Given the description of an element on the screen output the (x, y) to click on. 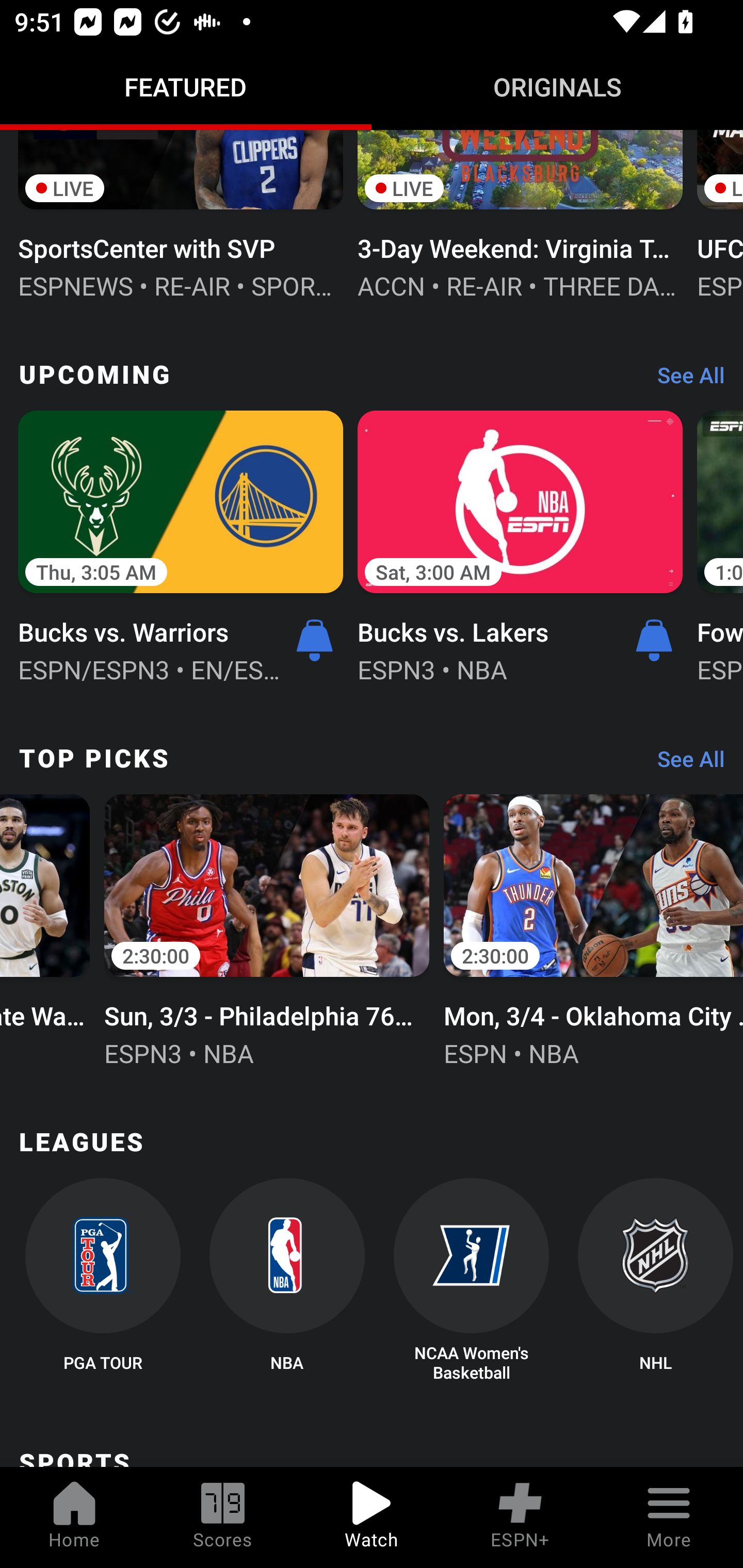
Originals ORIGINALS (557, 86)
See All (683, 379)
See All (683, 763)
PGA TOUR (102, 1280)
NBA (286, 1280)
NCAA Women's Basketball (471, 1280)
NHL (655, 1280)
Home (74, 1517)
Scores (222, 1517)
ESPN+ (519, 1517)
More (668, 1517)
